Given the description of an element on the screen output the (x, y) to click on. 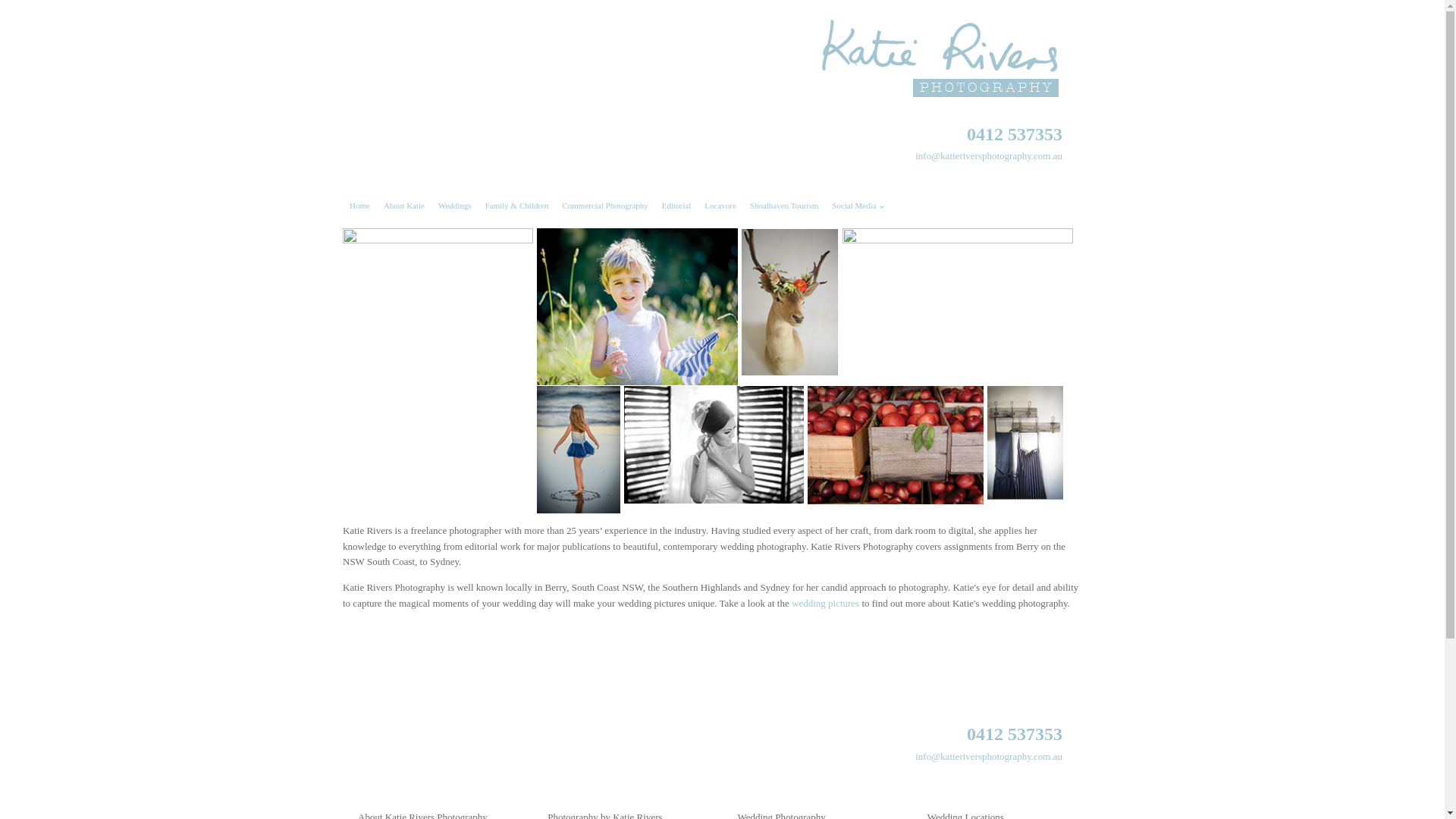
Editorial Element type: text (676, 206)
Weddings Element type: text (454, 206)
Social Media Element type: text (857, 206)
0412 537353 Element type: text (1014, 122)
0412 537353 Element type: text (1014, 722)
Locavore Element type: text (720, 206)
info@katieriversphotography.com.au Element type: text (988, 757)
Family & Children Element type: text (516, 206)
Shoalhaven Tourism Element type: text (784, 206)
wedding pictures Element type: text (825, 602)
info@katieriversphotography.com.au Element type: text (988, 156)
Commercial Photography Element type: text (604, 206)
Home Element type: text (359, 206)
About Katie Element type: text (403, 206)
